Given the description of an element on the screen output the (x, y) to click on. 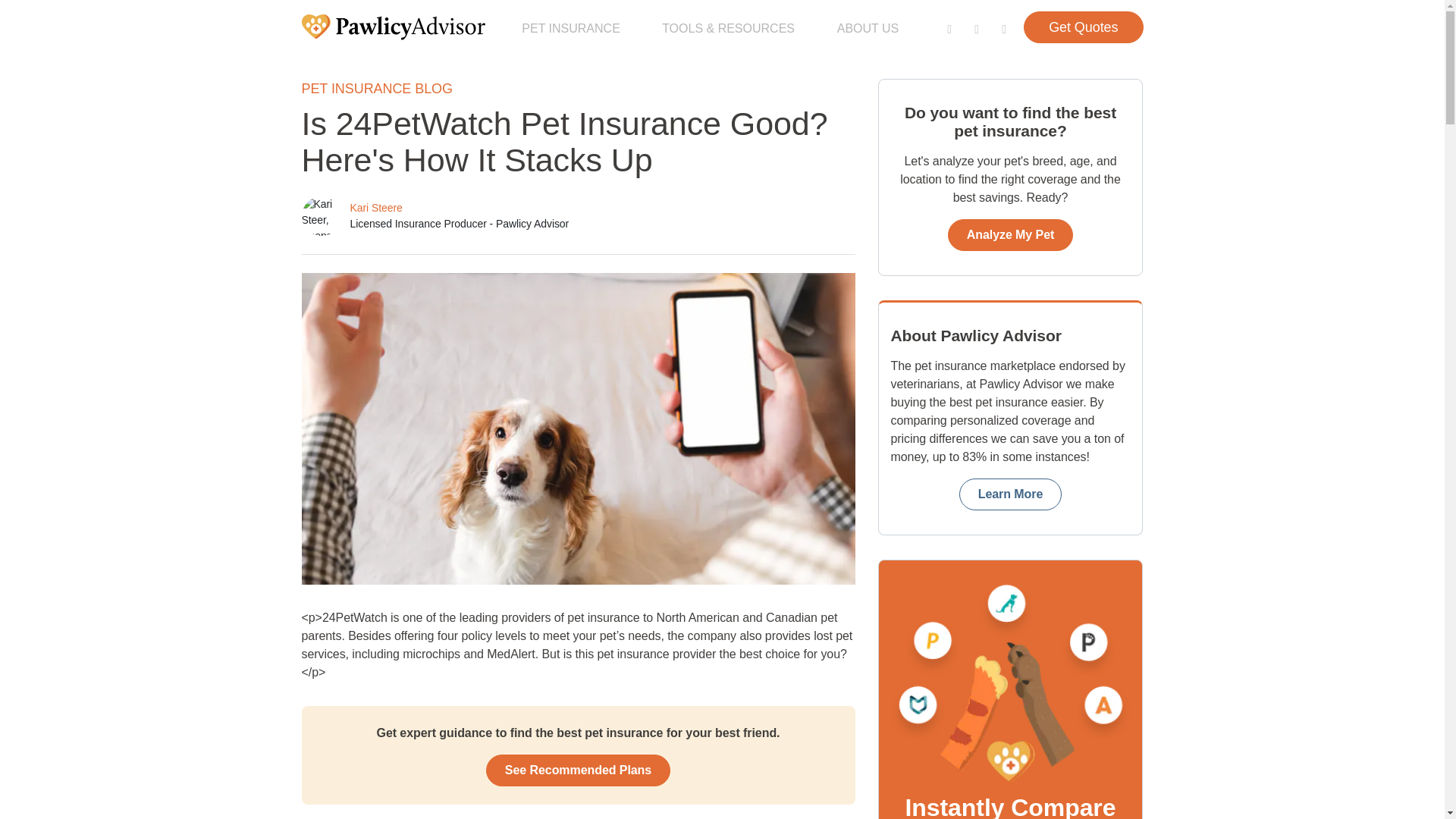
Kari Steere (376, 207)
Learn More (1010, 494)
Analyze My Pet (1010, 234)
See Recommended Plans (577, 770)
PET INSURANCE (571, 28)
ABOUT US (867, 28)
Get Quotes (1082, 27)
PET INSURANCE BLOG (376, 88)
